Given the description of an element on the screen output the (x, y) to click on. 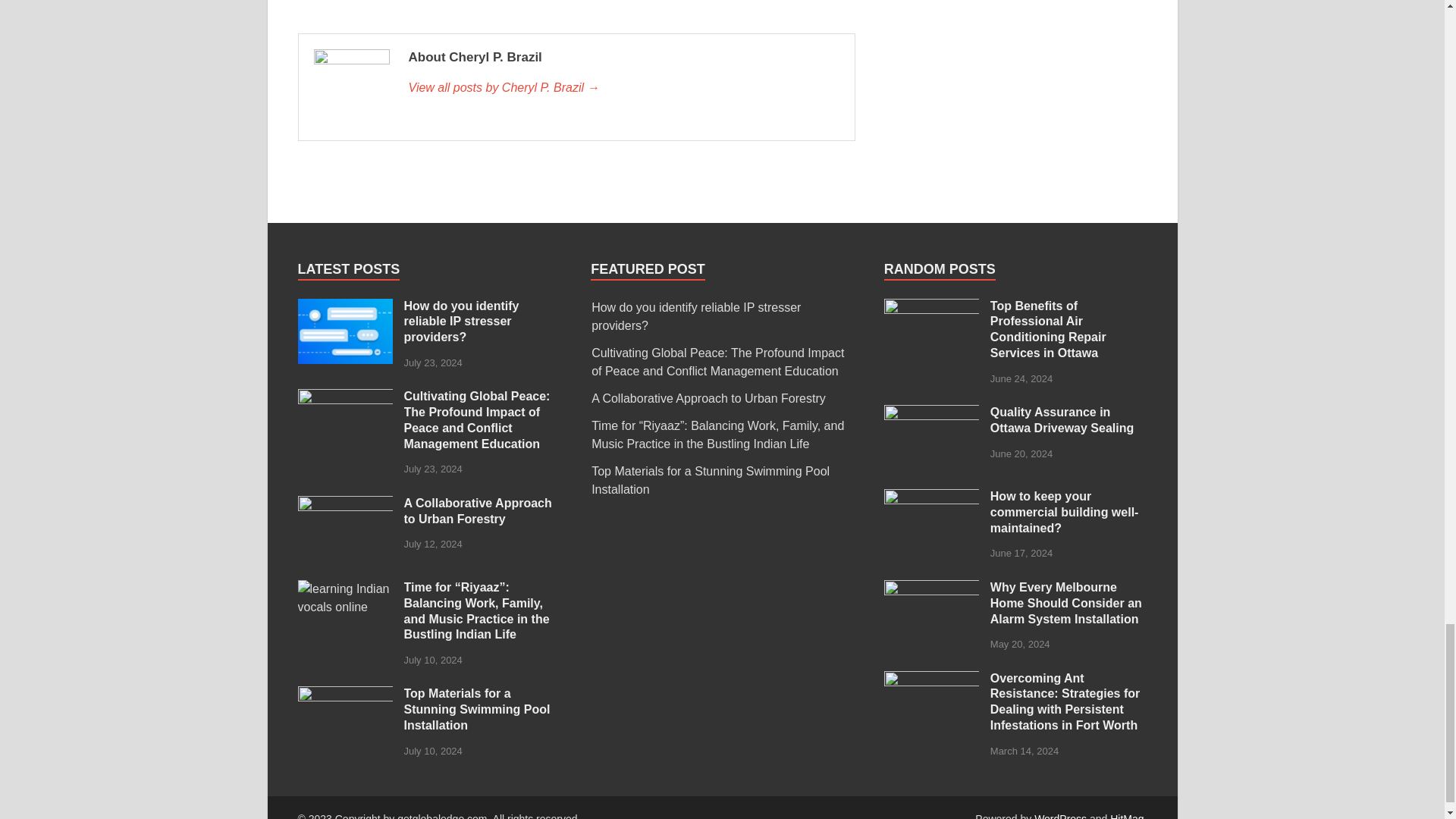
A Collaborative Approach to Urban Forestry (344, 504)
Top Materials for a Stunning Swimming Pool Installation (344, 694)
How do you identify reliable IP stresser providers? (344, 307)
Cheryl P. Brazil (622, 87)
